Given the description of an element on the screen output the (x, y) to click on. 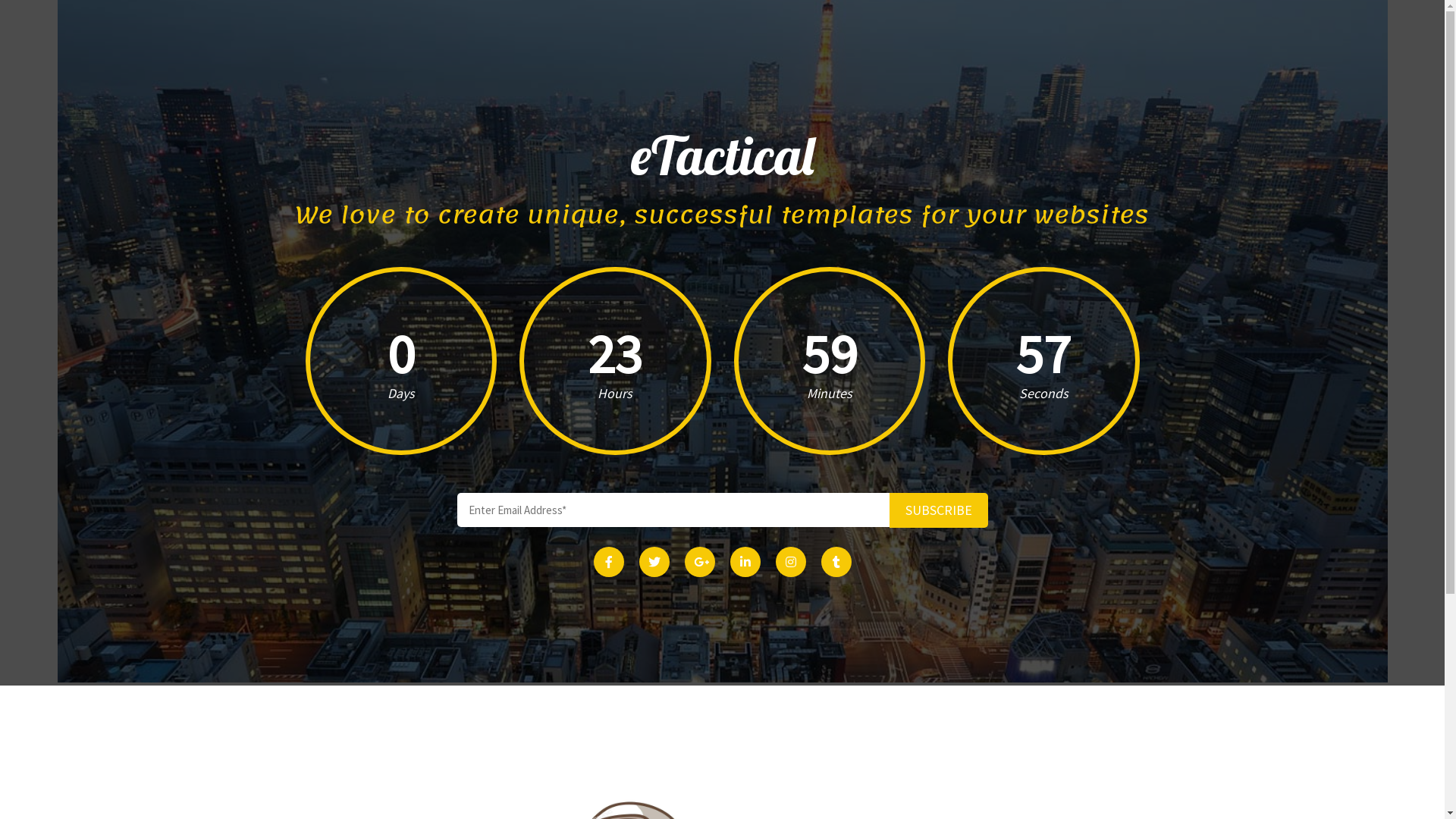
eTactical Element type: text (722, 155)
SUBSCRIBE Element type: text (937, 509)
